Given the description of an element on the screen output the (x, y) to click on. 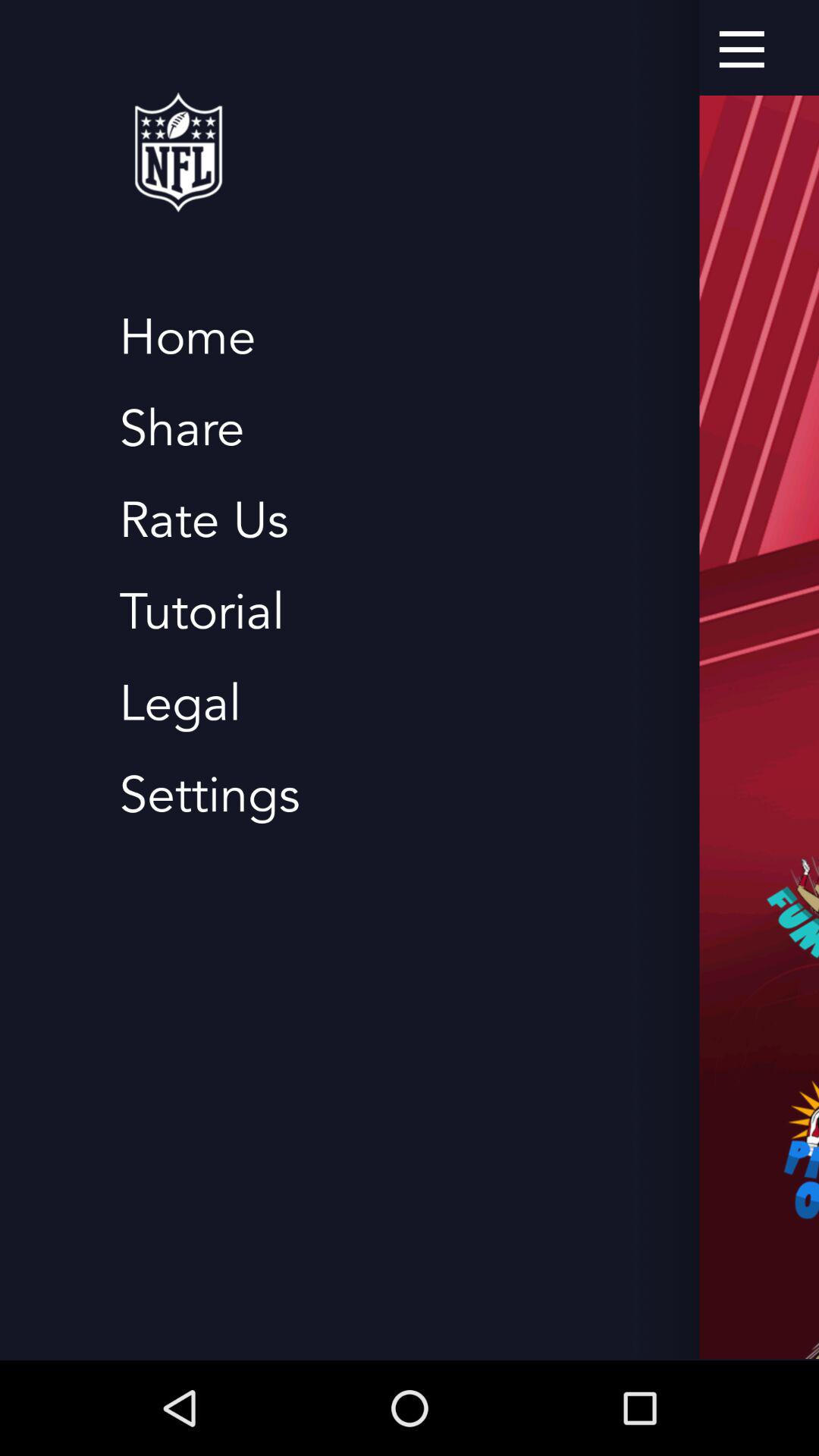
swipe until home icon (187, 337)
